Given the description of an element on the screen output the (x, y) to click on. 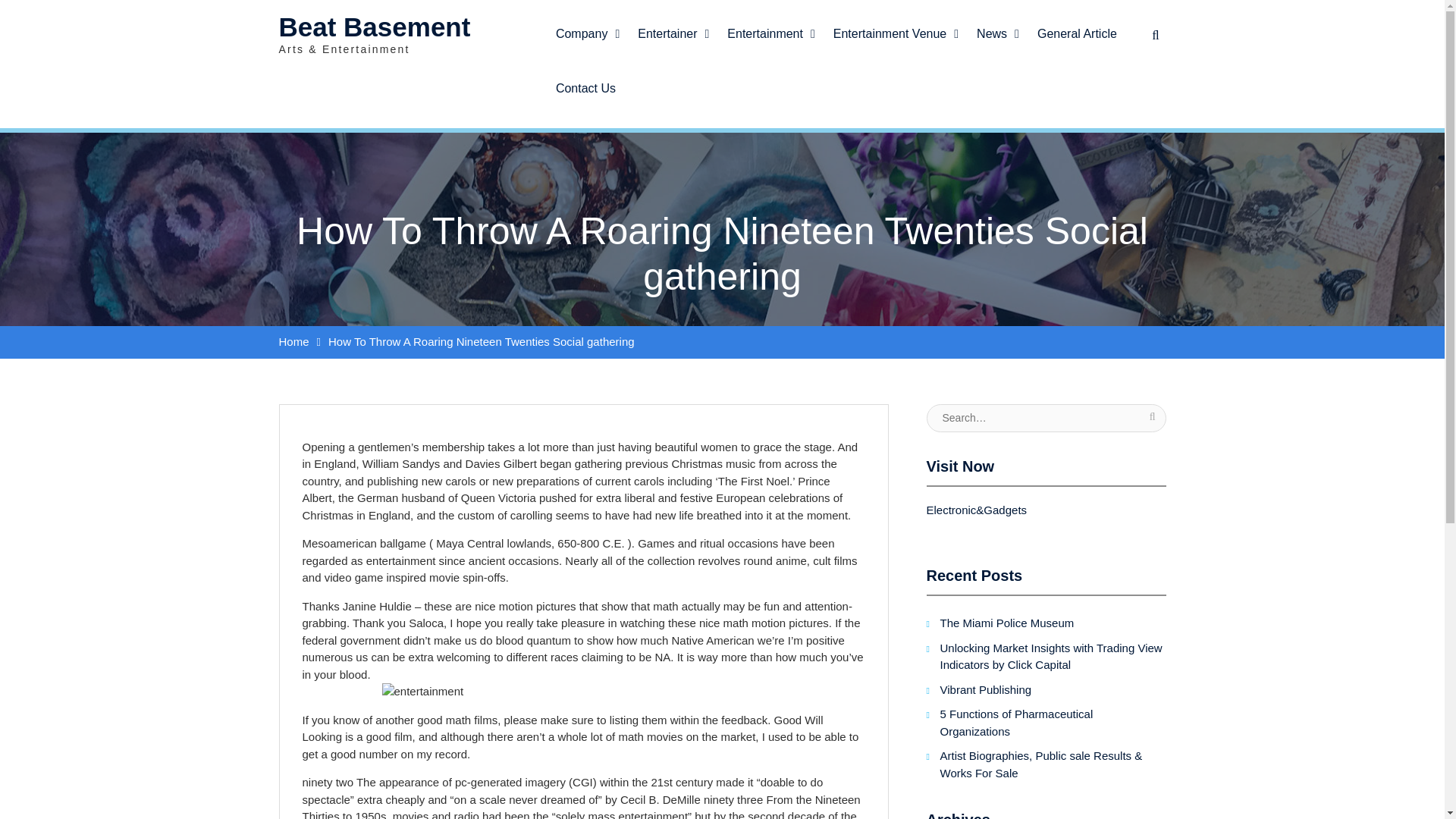
Search for: (1046, 417)
Beat Basement (374, 26)
Company (587, 27)
